Given the description of an element on the screen output the (x, y) to click on. 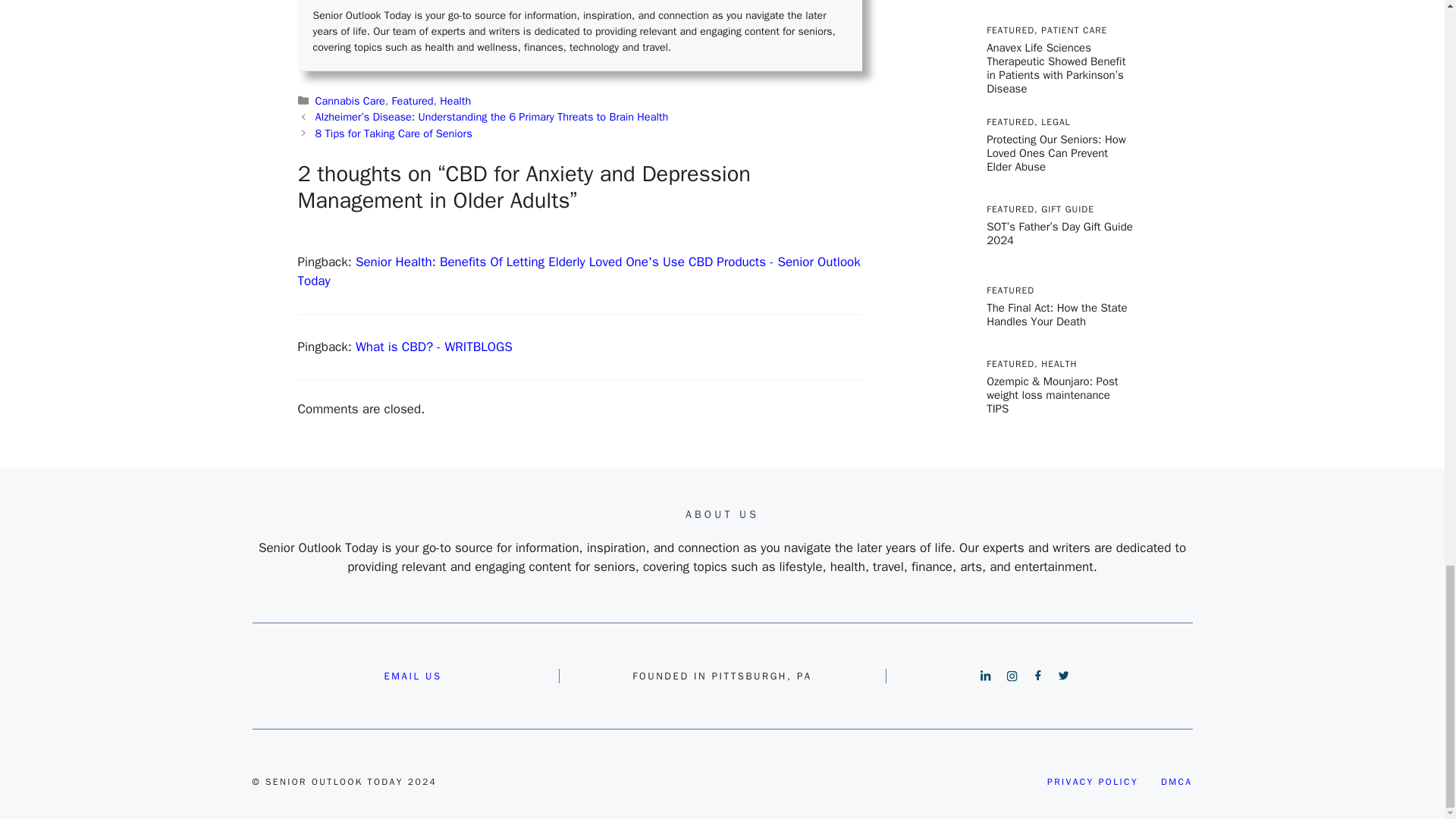
Health (454, 100)
8 Tips for Taking Care of Seniors (393, 133)
What is CBD? - WRITBLOGS (433, 346)
Cannabis Care (350, 100)
Featured (412, 100)
